Given the description of an element on the screen output the (x, y) to click on. 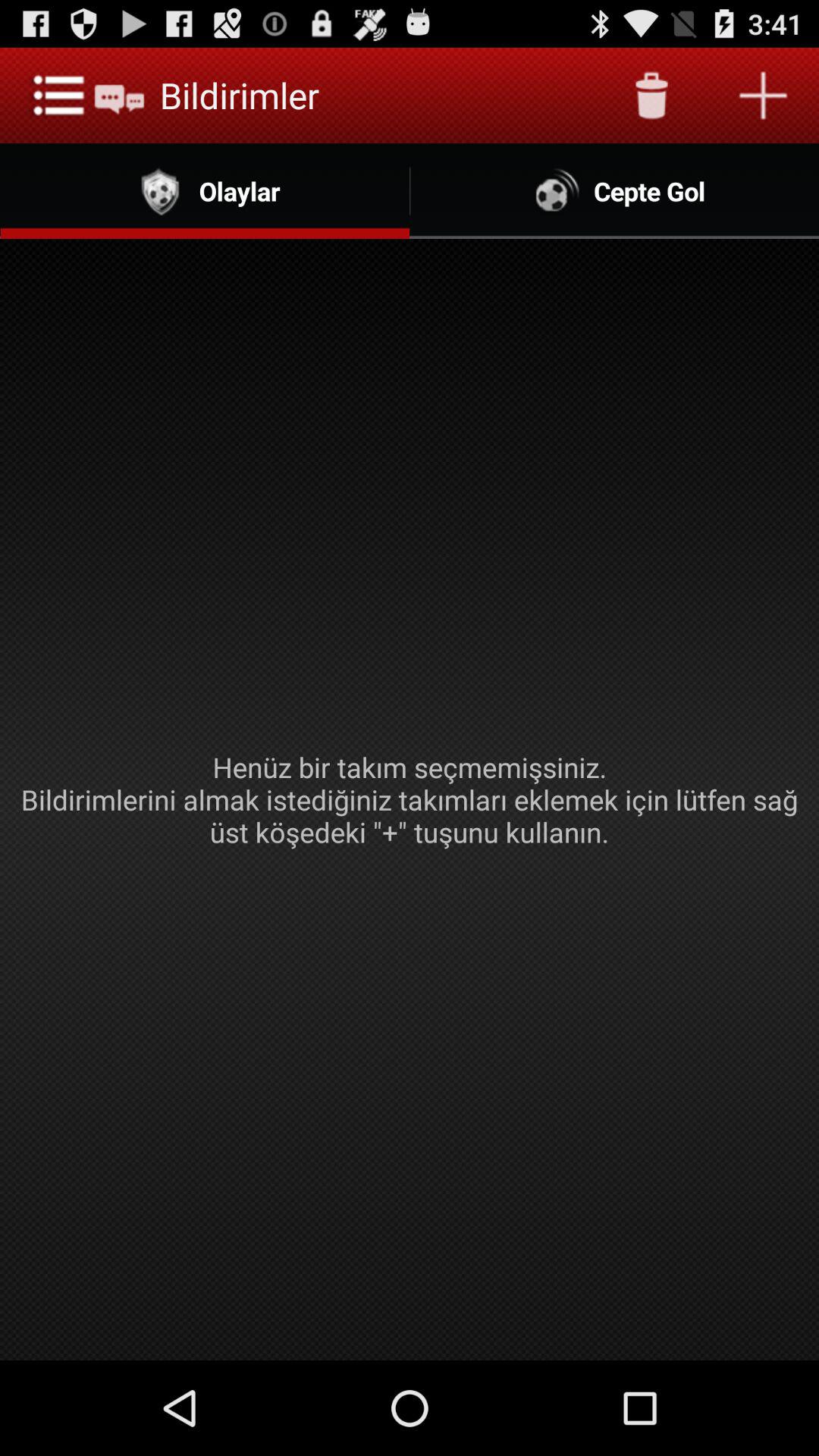
press icon next to the bildirimler icon (651, 95)
